Given the description of an element on the screen output the (x, y) to click on. 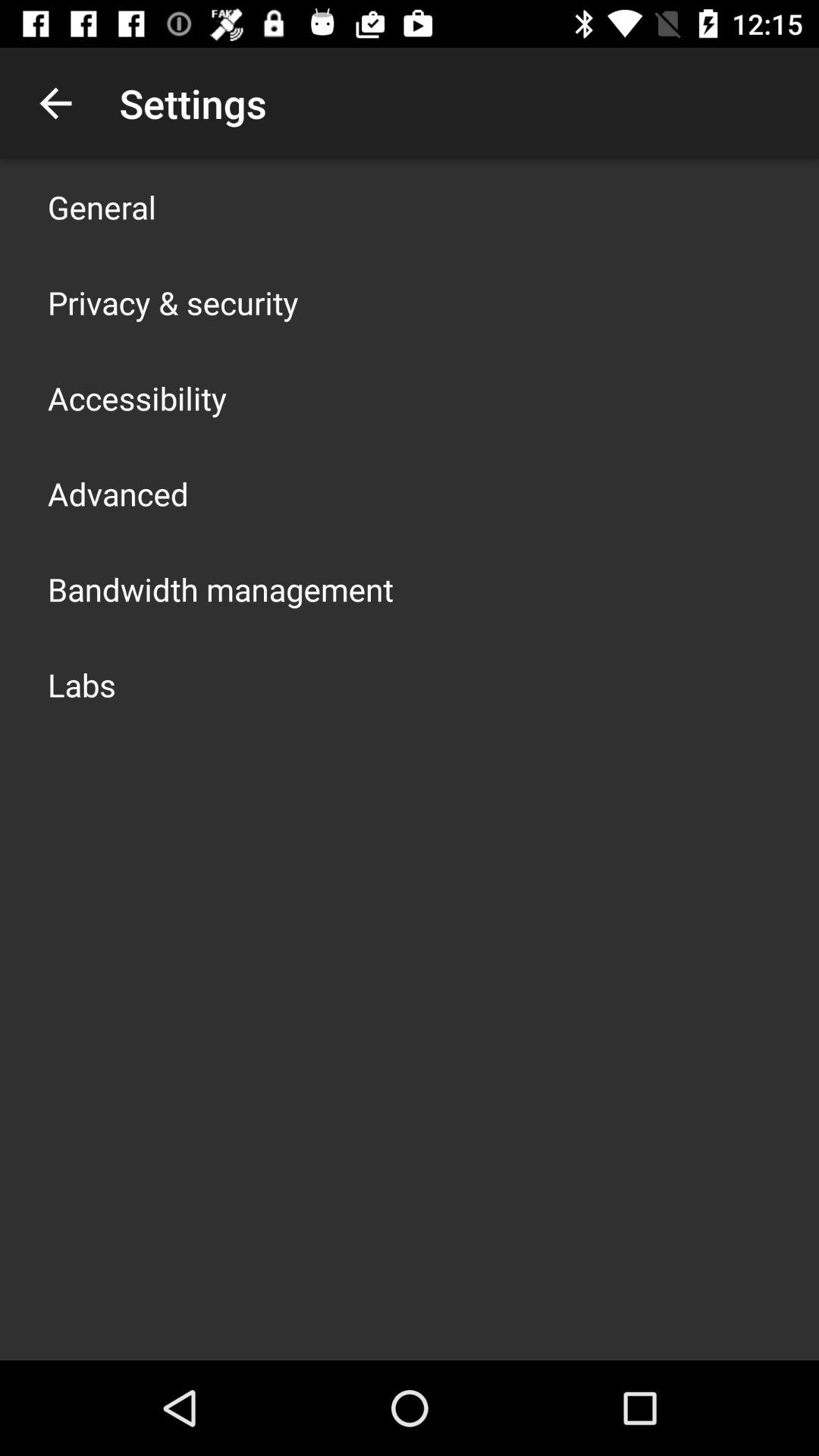
open icon below advanced icon (220, 588)
